Given the description of an element on the screen output the (x, y) to click on. 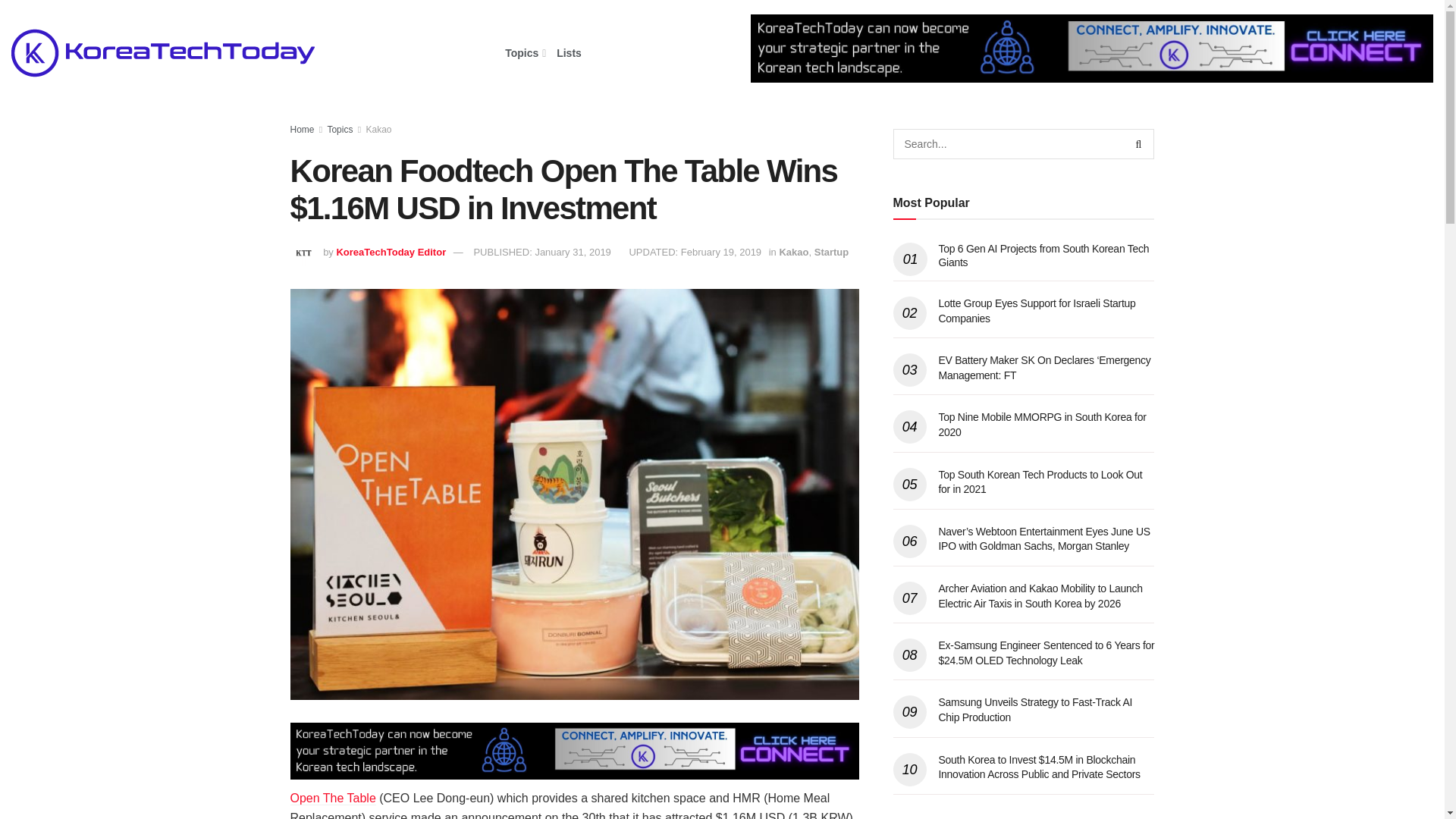
Topics (524, 53)
